Given the description of an element on the screen output the (x, y) to click on. 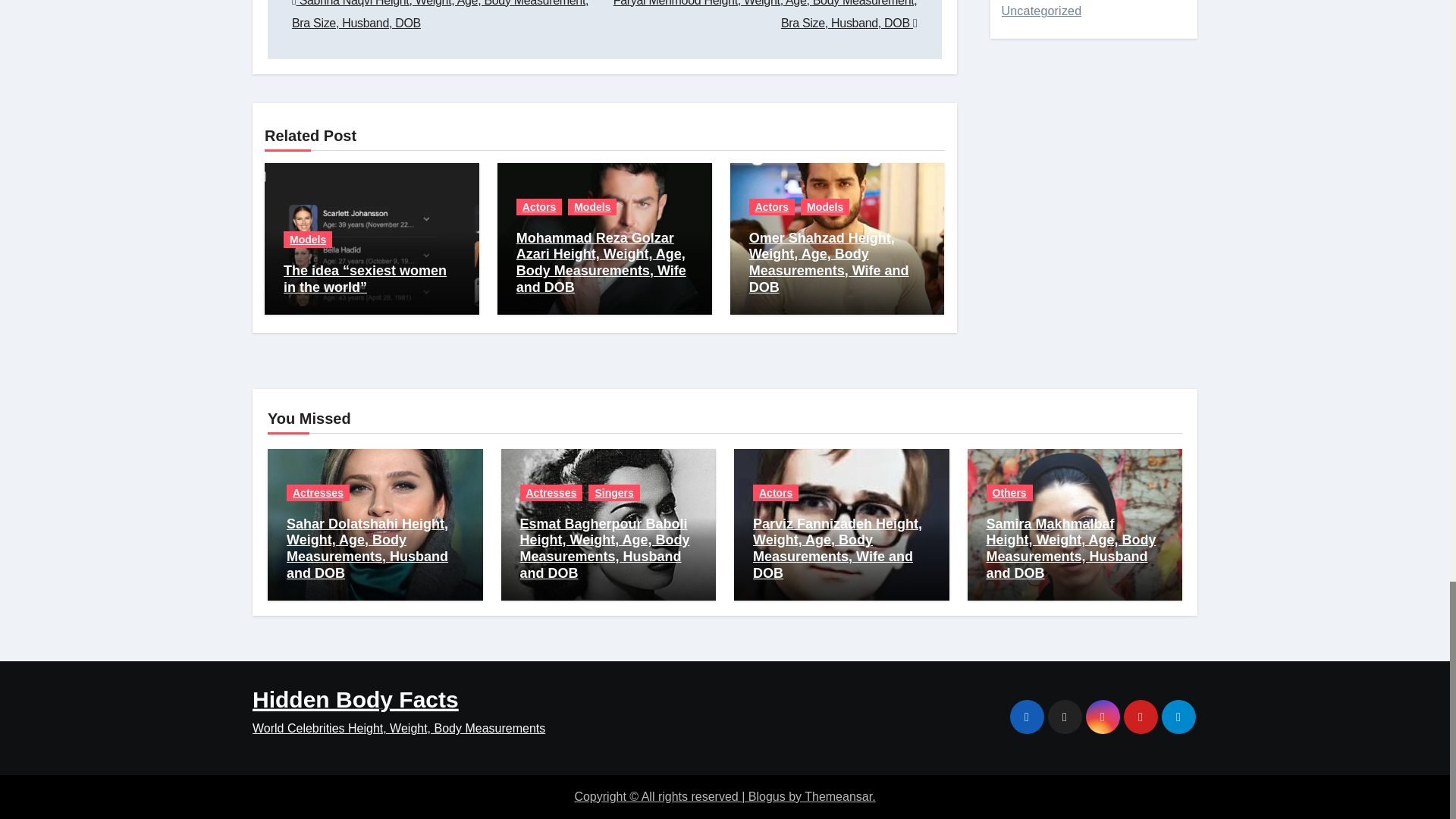
Models (307, 239)
